Given the description of an element on the screen output the (x, y) to click on. 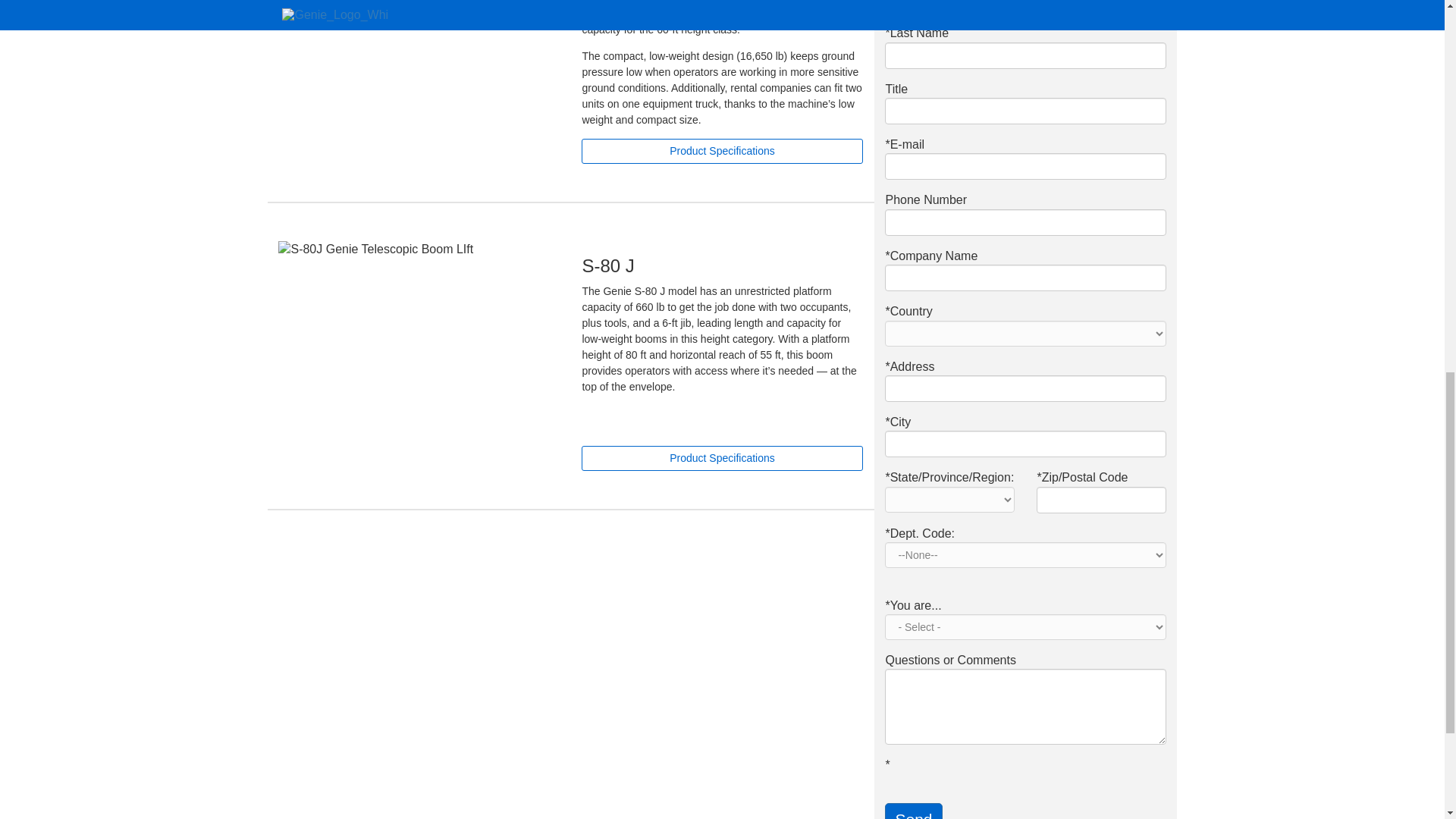
State (949, 499)
Product Specifications (720, 457)
Dept. Code (1025, 555)
Product Specifications (720, 150)
Product Specifications (720, 150)
Product Specifications (720, 457)
Send (913, 811)
S-80J Genie Telescopic Boom LIft (418, 248)
